Given the description of an element on the screen output the (x, y) to click on. 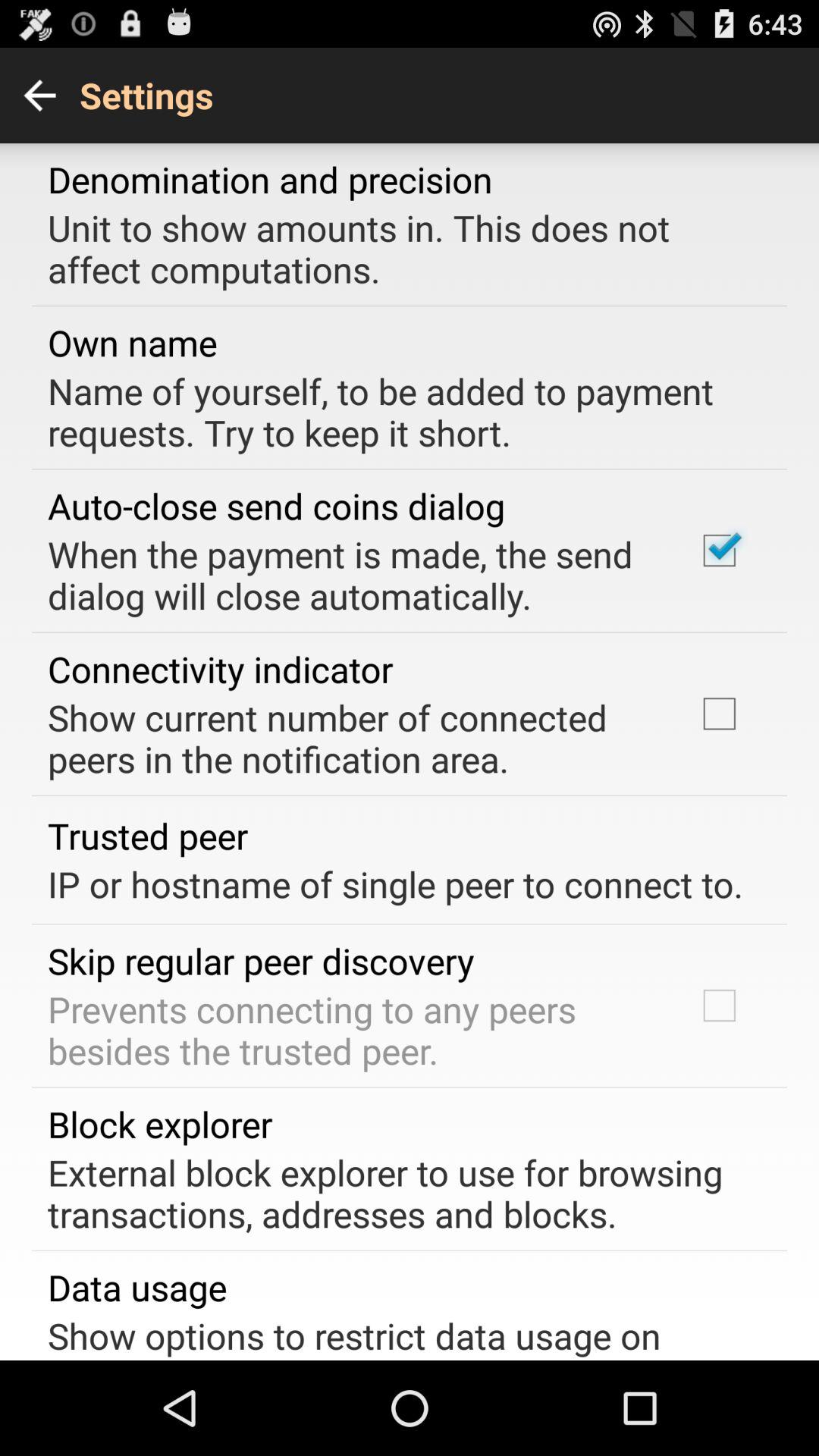
turn on the icon below the auto close send item (351, 574)
